Given the description of an element on the screen output the (x, y) to click on. 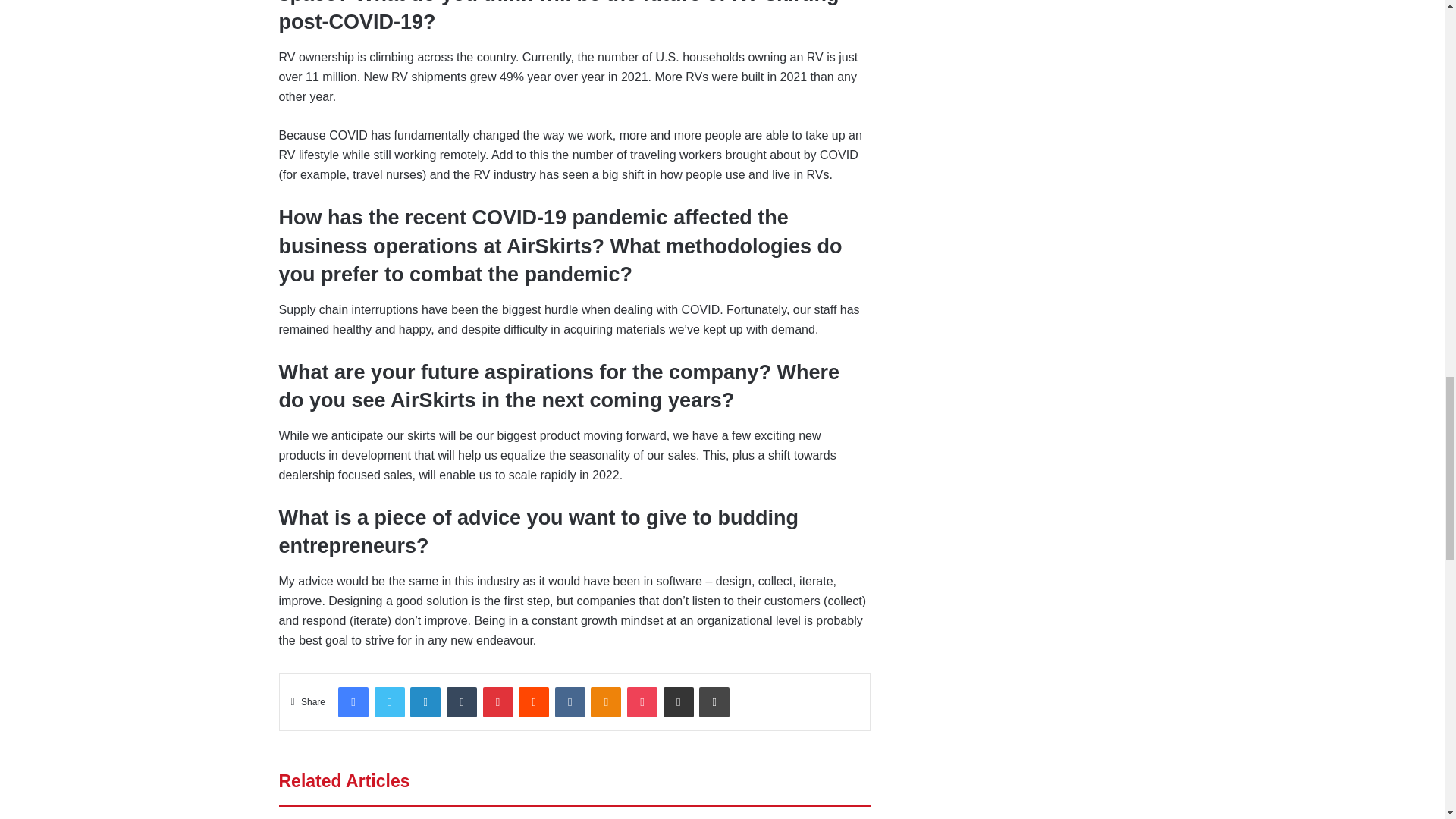
Share via Email (678, 702)
Tumblr (461, 702)
Facebook (352, 702)
Reddit (533, 702)
Print (713, 702)
LinkedIn (425, 702)
Odnoklassniki (606, 702)
Pocket (642, 702)
Twitter (389, 702)
Pinterest (496, 702)
VKontakte (569, 702)
